Given the description of an element on the screen output the (x, y) to click on. 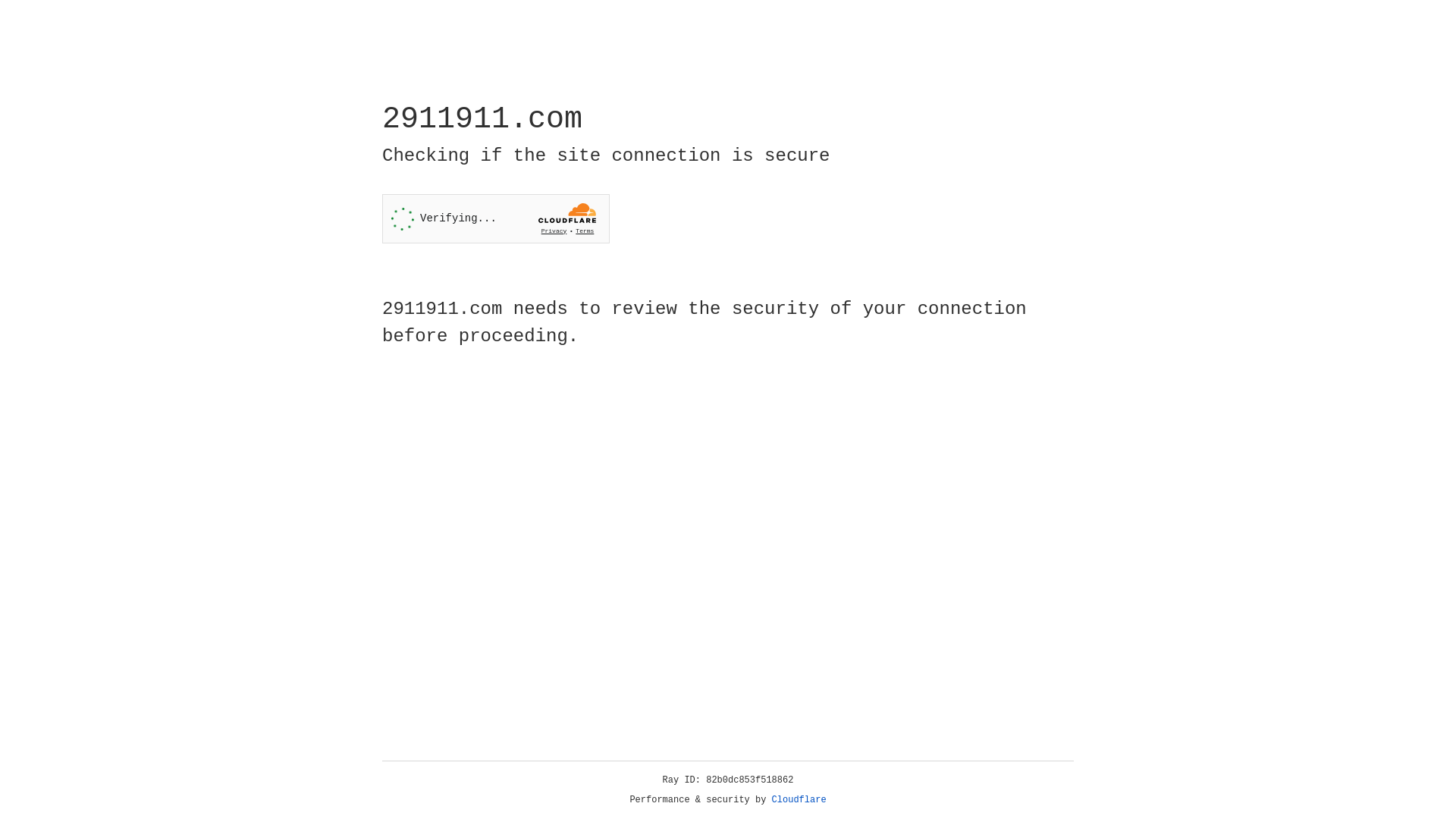
Widget containing a Cloudflare security challenge Element type: hover (495, 218)
Cloudflare Element type: text (798, 799)
